Given the description of an element on the screen output the (x, y) to click on. 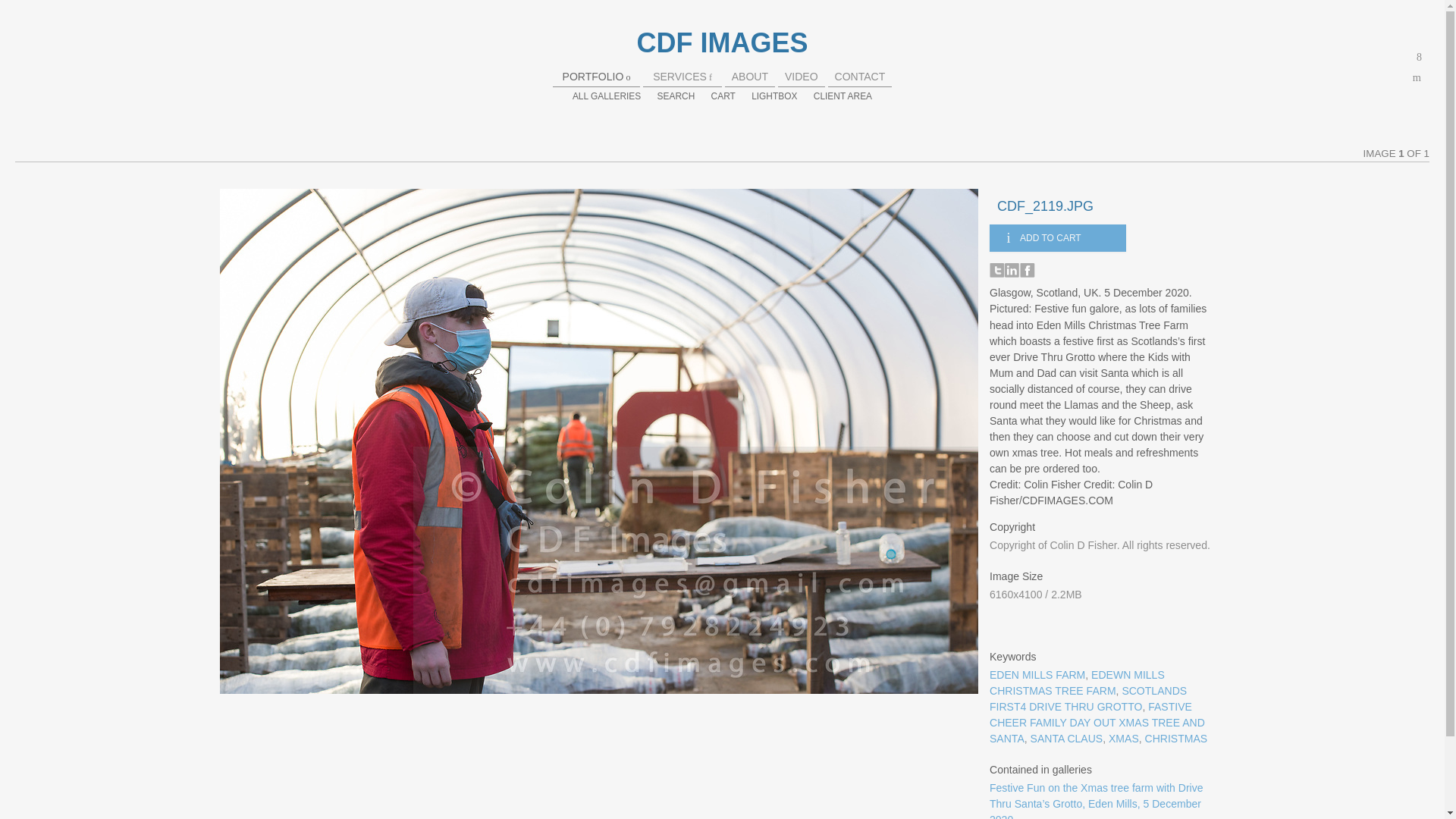
ALL GALLERIES (606, 95)
Share This (1419, 57)
CART (723, 95)
EDEN MILLS FARM (1037, 674)
SANTA CLAUS (1066, 738)
ADD TO CART (1057, 237)
CDF IMAGES (722, 42)
XMAS (1123, 738)
CONTACT (859, 76)
EDEWN MILLS CHRISTMAS TREE FARM (1077, 682)
